Given the description of an element on the screen output the (x, y) to click on. 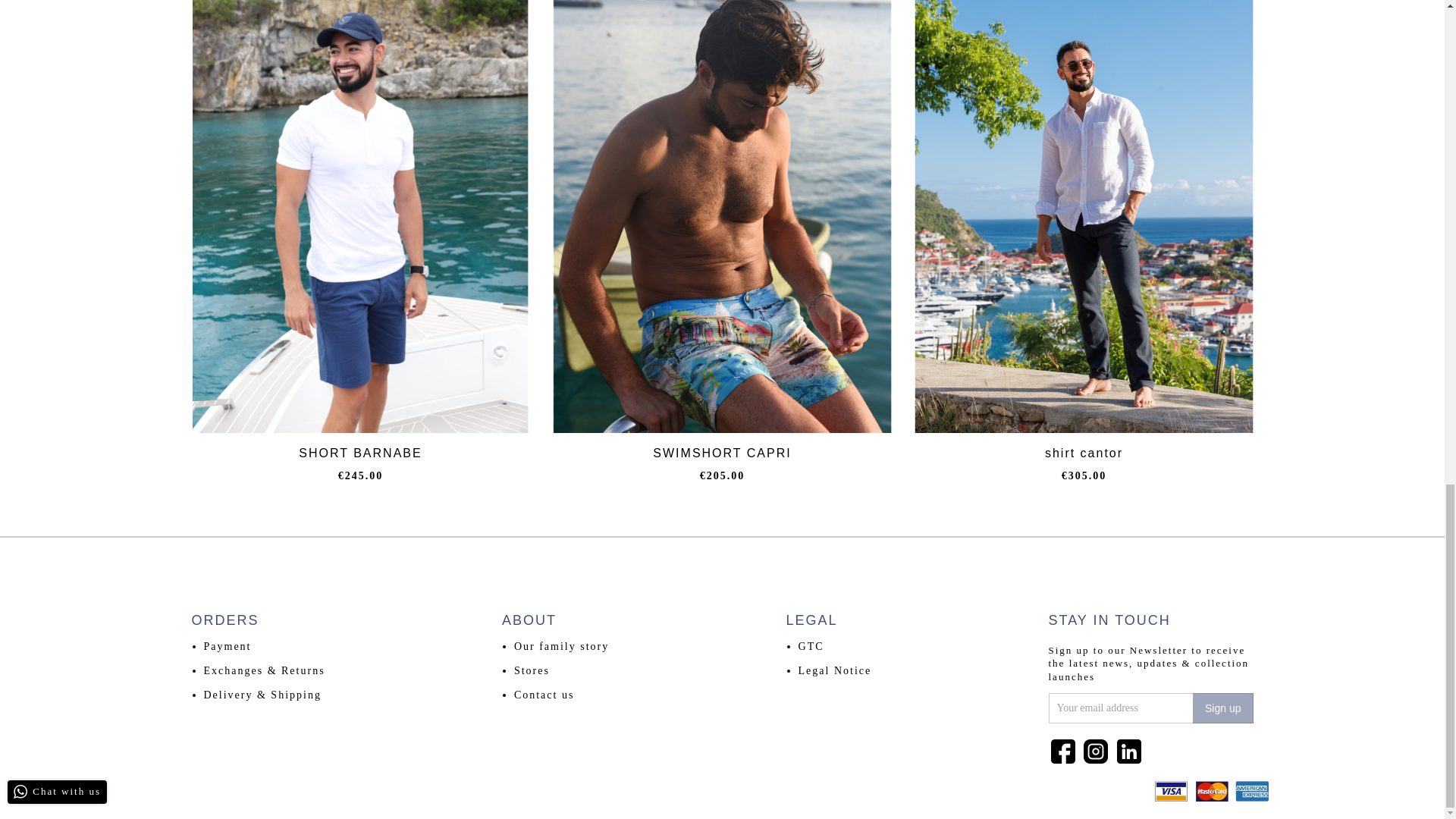
Sign up (1222, 707)
